Given the description of an element on the screen output the (x, y) to click on. 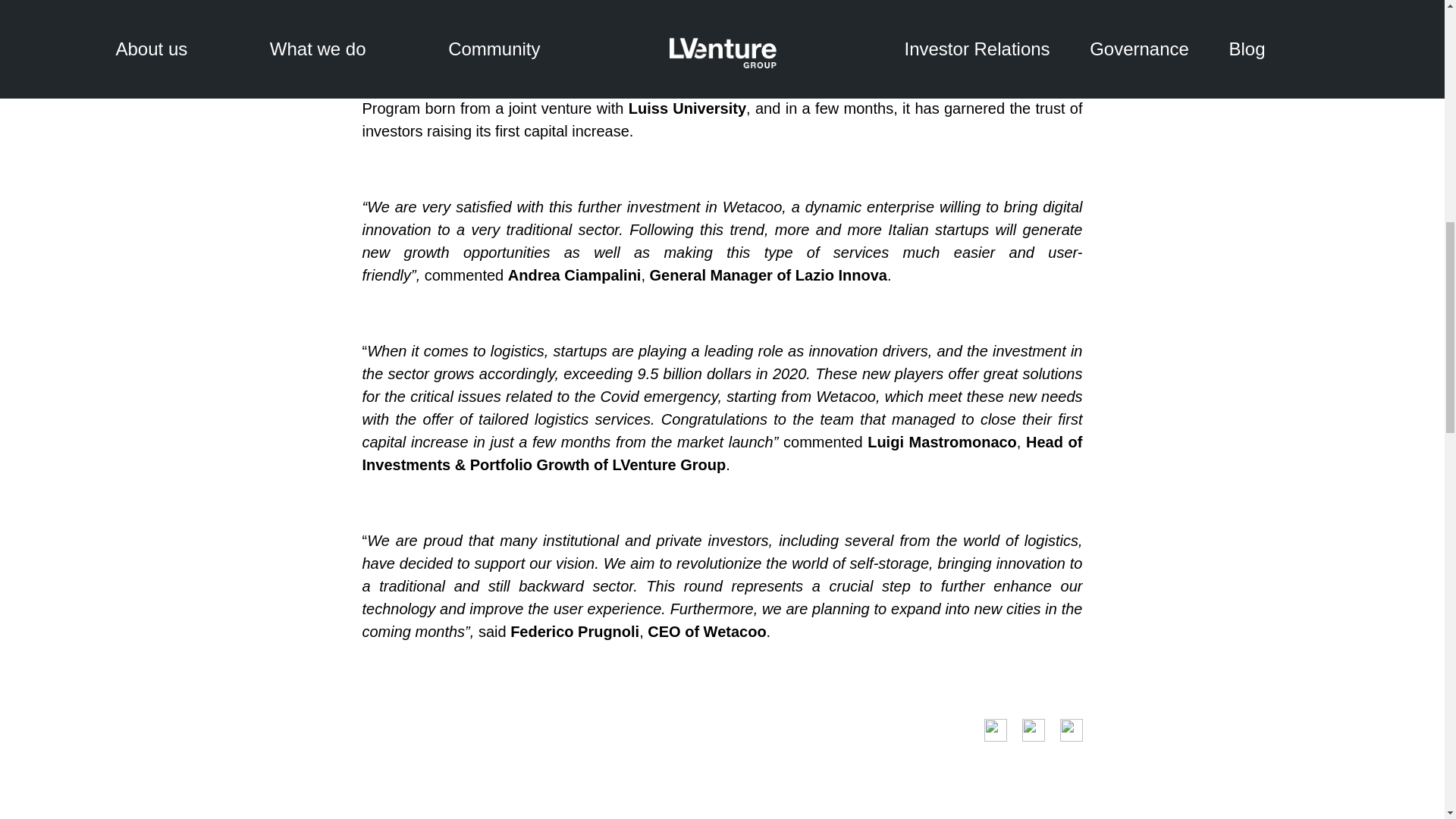
MAGAZINE (1256, 818)
